Given the description of an element on the screen output the (x, y) to click on. 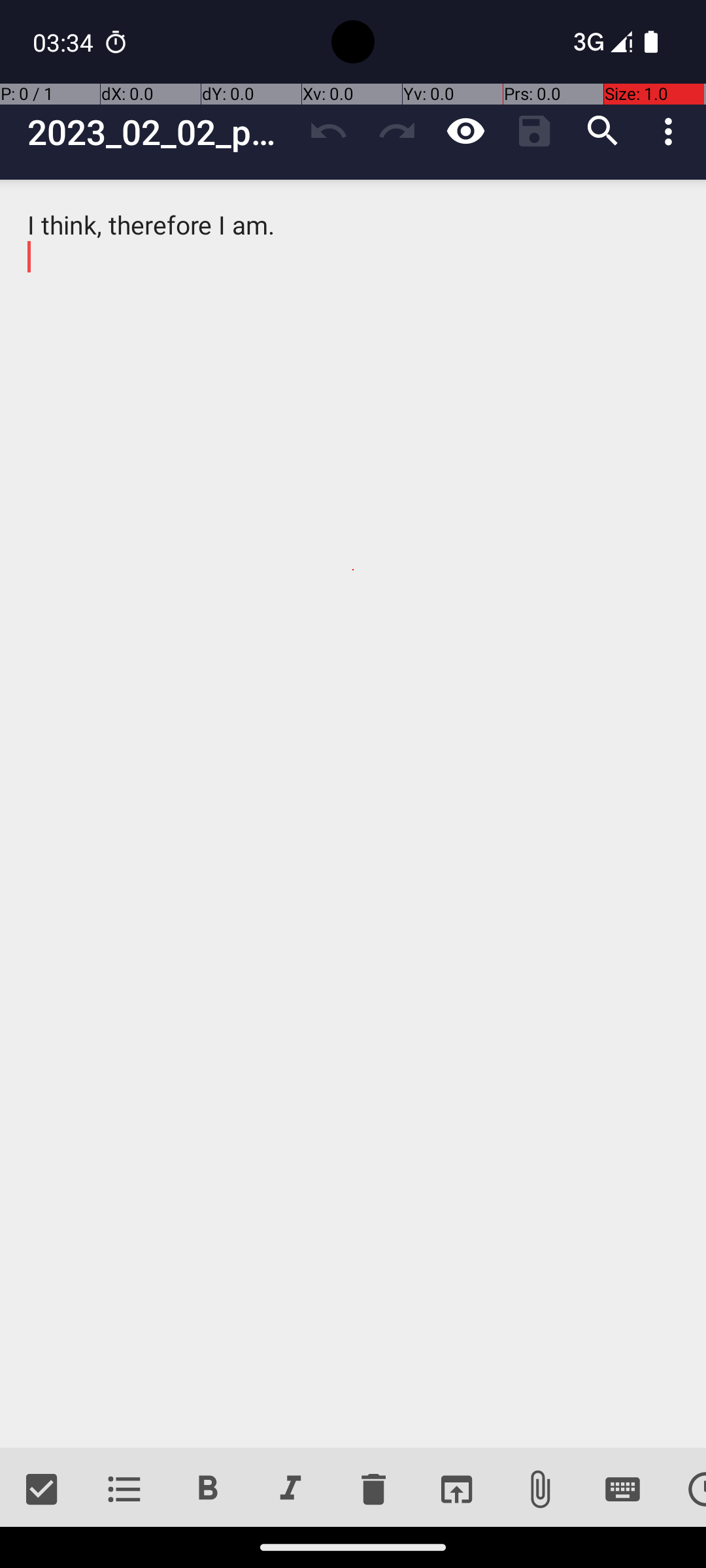
2023_02_02_polite_cat Element type: android.widget.TextView (160, 131)
I think, therefore I am.
 Element type: android.widget.EditText (353, 813)
03:34 Element type: android.widget.TextView (64, 41)
